Given the description of an element on the screen output the (x, y) to click on. 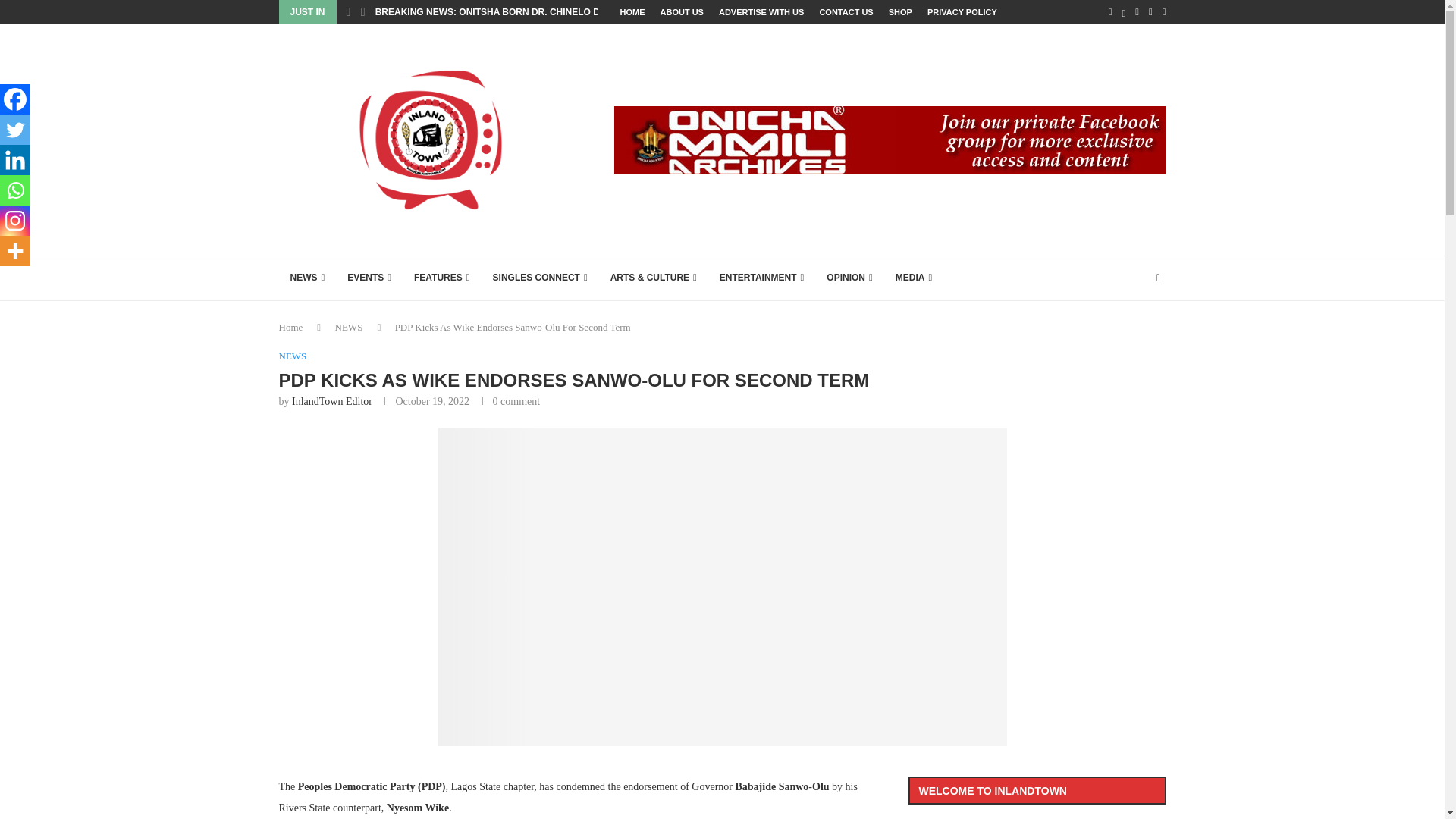
Facebook (15, 99)
Whatsapp (15, 190)
Linkedin (15, 159)
ABOUT US (681, 12)
CONTACT US (845, 12)
More (15, 250)
ADVERTISE WITH US (761, 12)
Twitter (15, 129)
PRIVACY POLICY (962, 12)
